Given the description of an element on the screen output the (x, y) to click on. 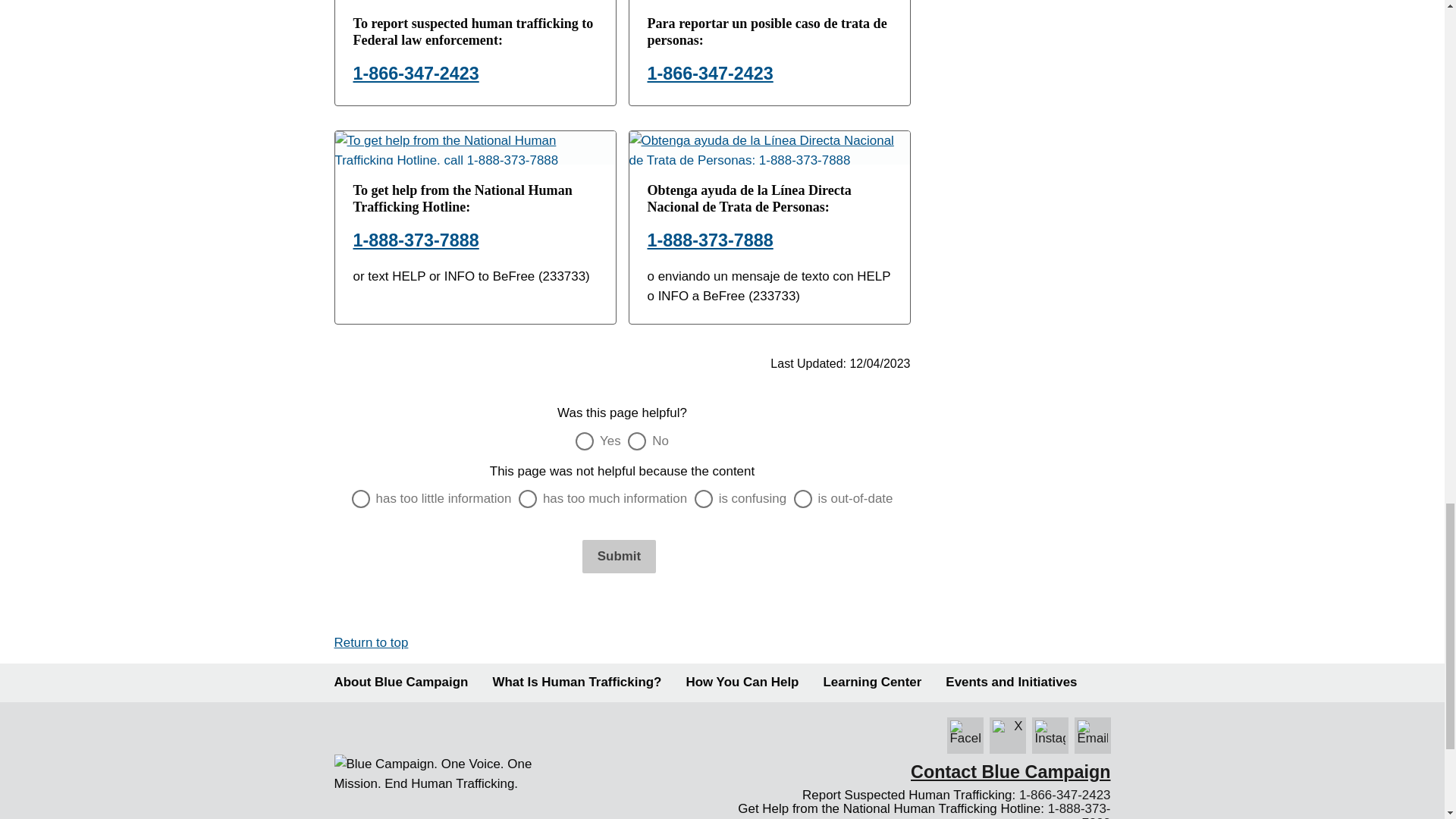
1-866-347-2423 (416, 73)
Submit (619, 556)
1-888-373-7888 (416, 240)
Learning Center (871, 682)
How You Can Help (741, 682)
1-888-373-7888 (710, 240)
1-866-347-2423 (710, 73)
Law Enforcement Support (741, 682)
About Blue Campaign (400, 682)
Return to top (370, 642)
